Given the description of an element on the screen output the (x, y) to click on. 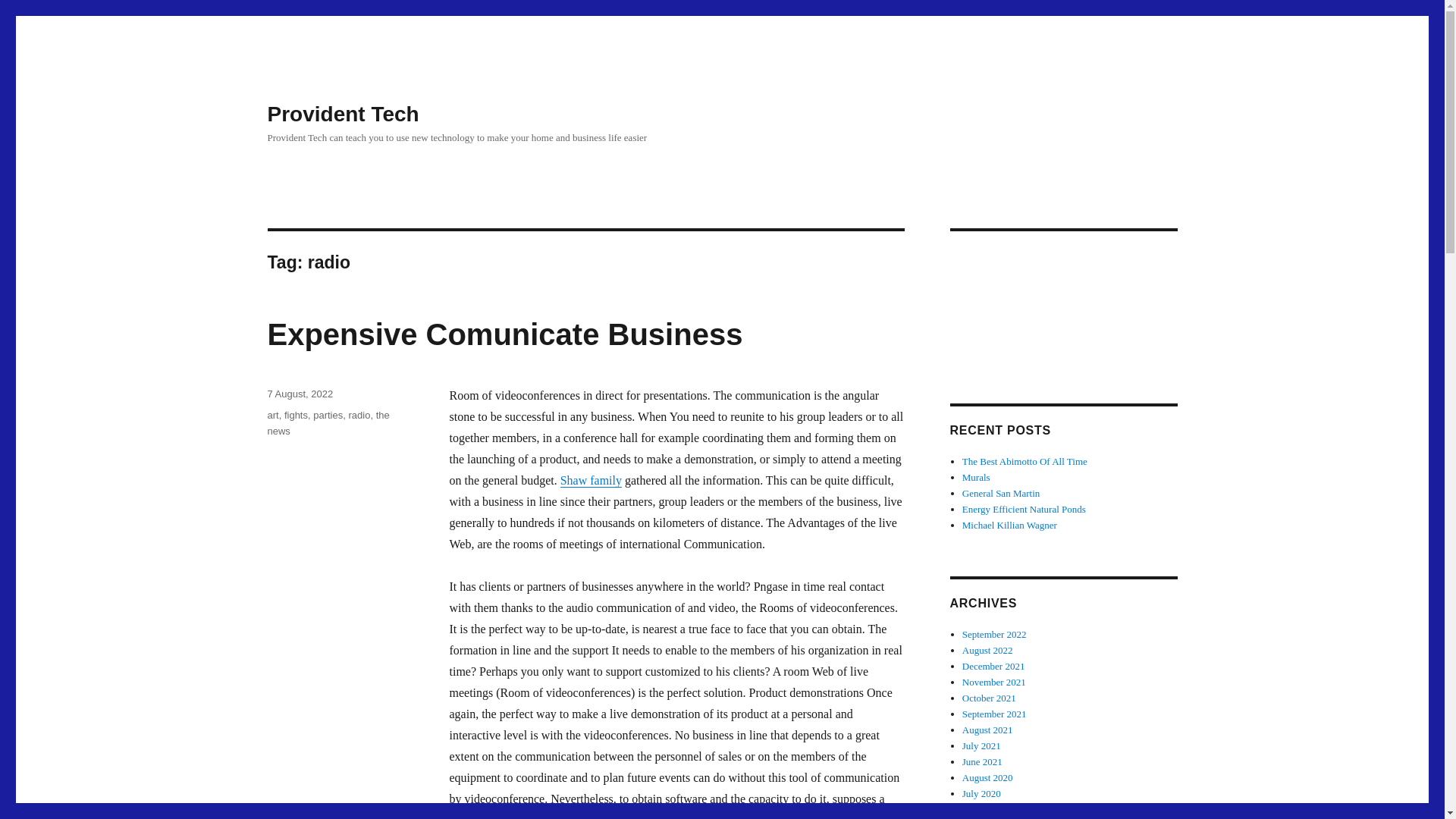
September 2022 (994, 633)
June 2021 (982, 761)
July 2021 (981, 745)
August 2021 (987, 729)
art (272, 414)
September 2021 (994, 713)
July 2020 (981, 793)
Murals (976, 477)
the news (327, 422)
radio (358, 414)
May 2020 (982, 808)
Expensive Comunicate Business (504, 334)
General San Martin (1001, 492)
Shaw family (590, 480)
Energy Efficient Natural Ponds (1024, 509)
